Given the description of an element on the screen output the (x, y) to click on. 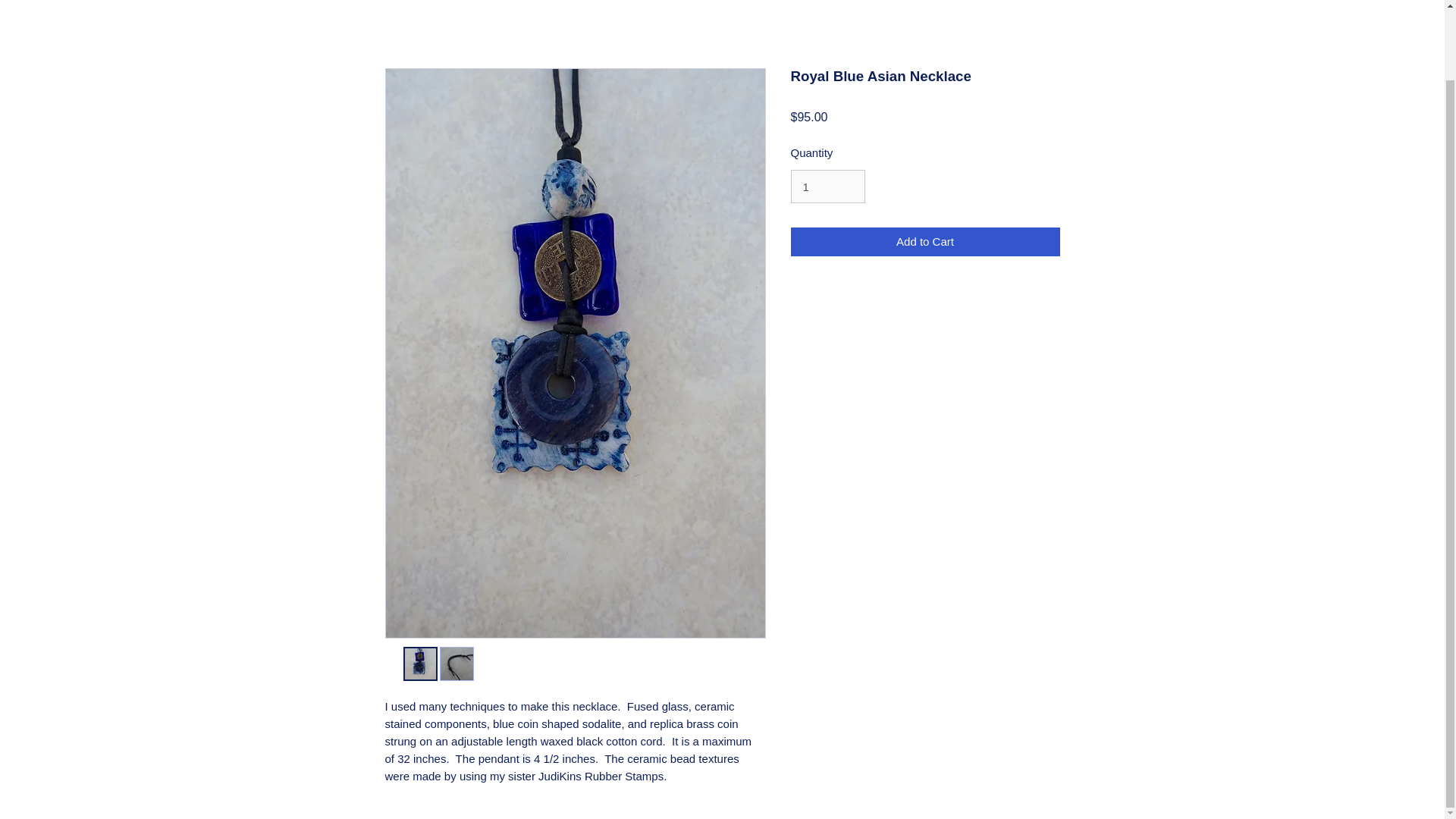
1 (827, 186)
Add to Cart (924, 242)
